Given the description of an element on the screen output the (x, y) to click on. 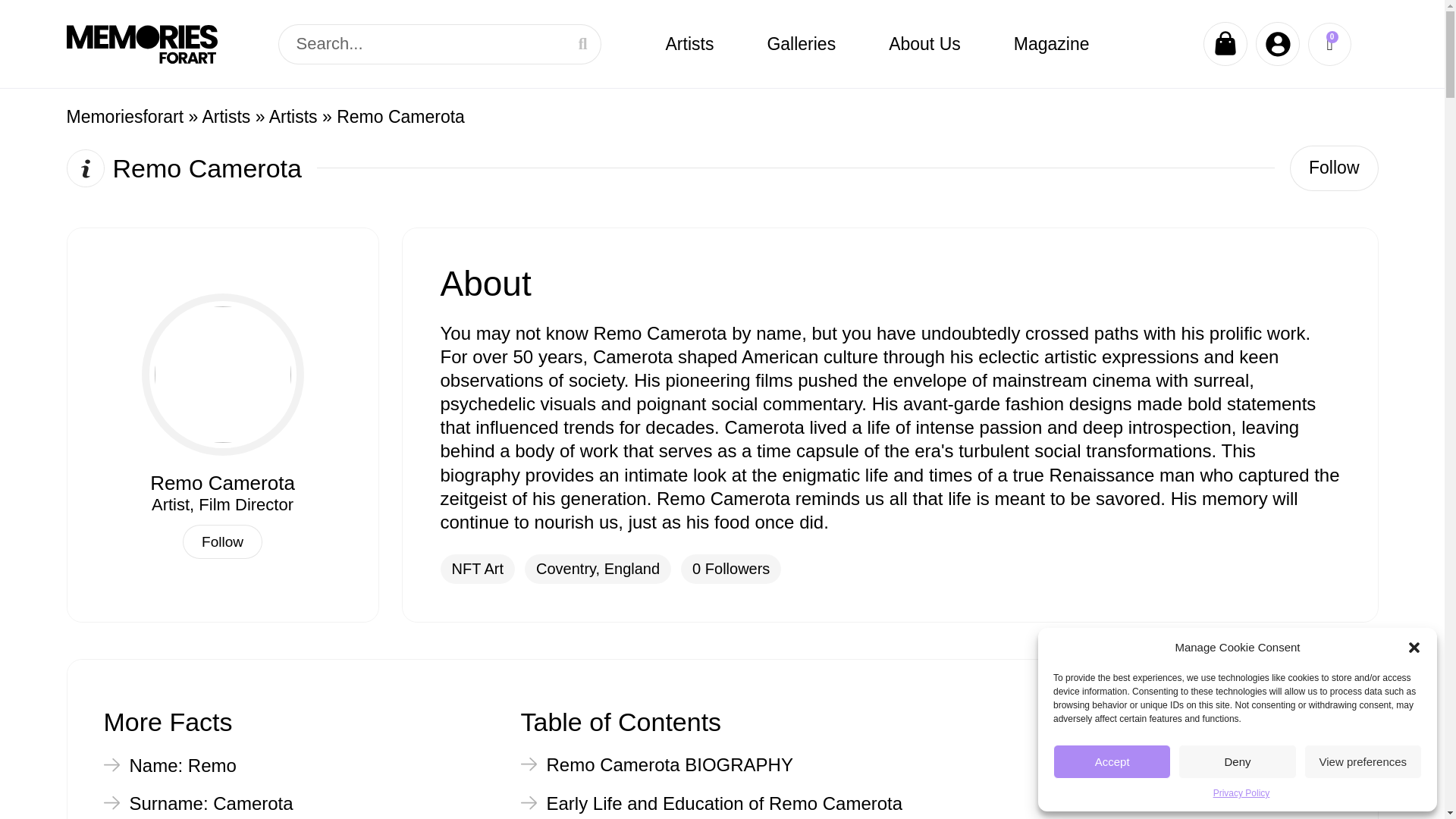
England (631, 568)
Artists (293, 116)
0 (1329, 44)
Artists (689, 44)
Memoriesforart (125, 116)
Artists (226, 116)
Accept (1111, 761)
About Us (924, 44)
NFT Art (477, 568)
Artist (170, 504)
Magazine (1051, 44)
Follow (222, 541)
Deny (1236, 761)
Follow (1333, 167)
Film Director (246, 504)
